Given the description of an element on the screen output the (x, y) to click on. 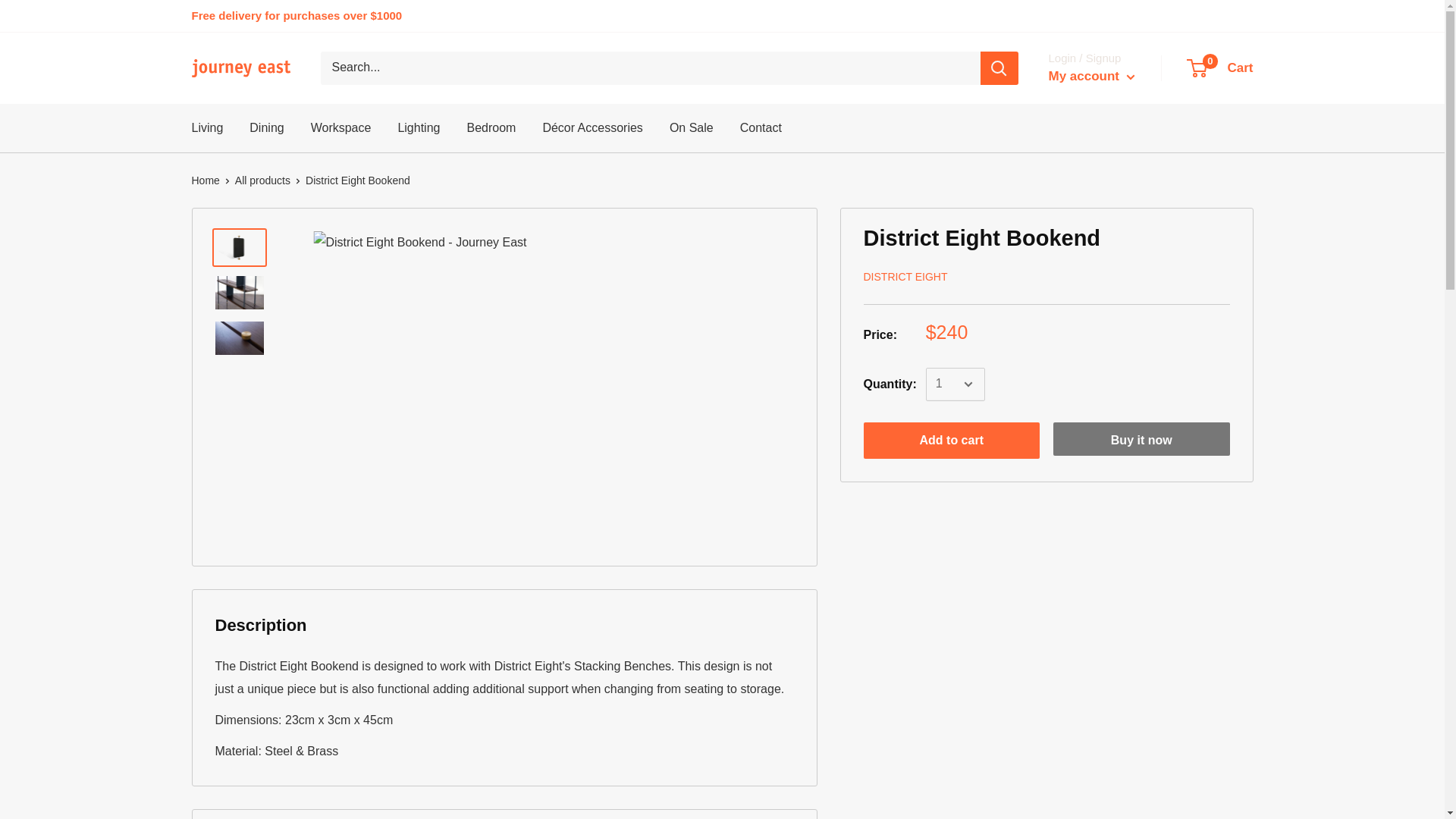
All products (261, 180)
On Sale (691, 128)
My account (1091, 76)
Dining (265, 128)
Workspace (341, 128)
Living (206, 128)
Lighting (418, 128)
Contact (1220, 68)
Home (760, 128)
